Given the description of an element on the screen output the (x, y) to click on. 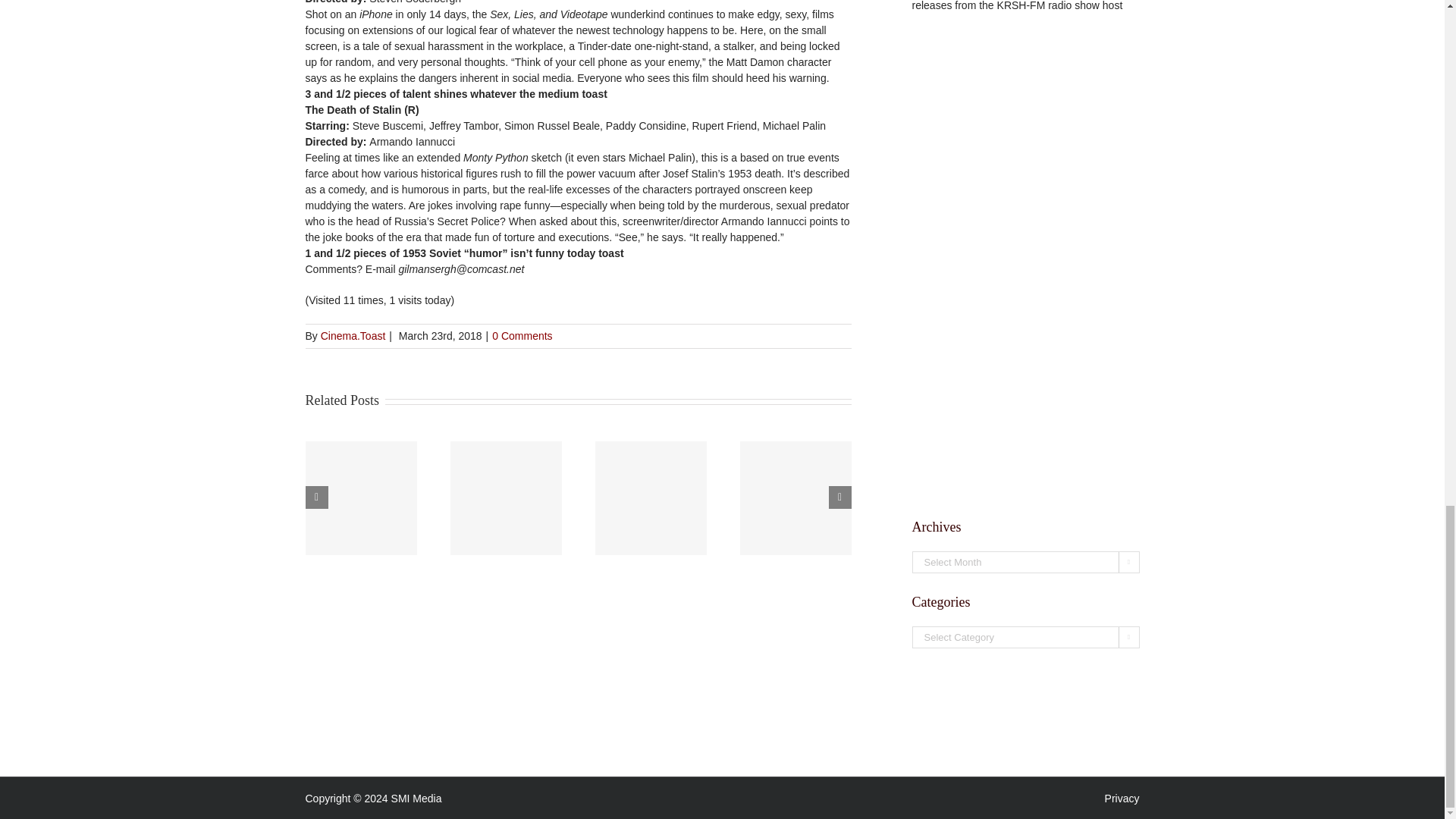
Cinema.Toast (352, 336)
3rd party ad content (721, 731)
0 Comments (521, 336)
Posts by Cinema.Toast (352, 336)
